Given the description of an element on the screen output the (x, y) to click on. 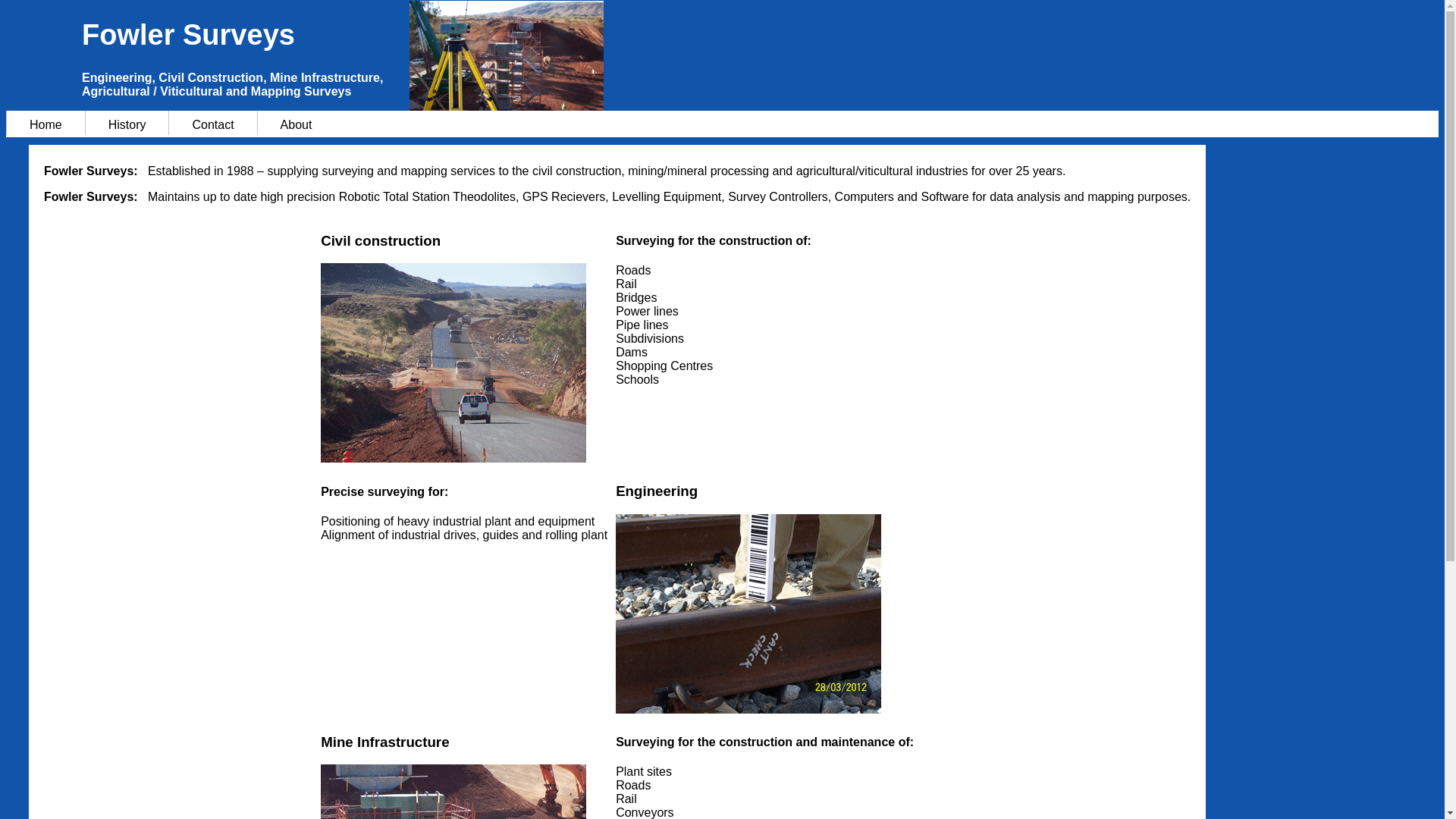
History Element type: text (126, 122)
Contact Element type: text (212, 122)
Fowler Surveys Element type: text (759, 34)
civil construction Element type: hover (453, 362)
engineering Element type: hover (748, 613)
About Element type: text (296, 122)
Home Element type: text (45, 122)
